Given the description of an element on the screen output the (x, y) to click on. 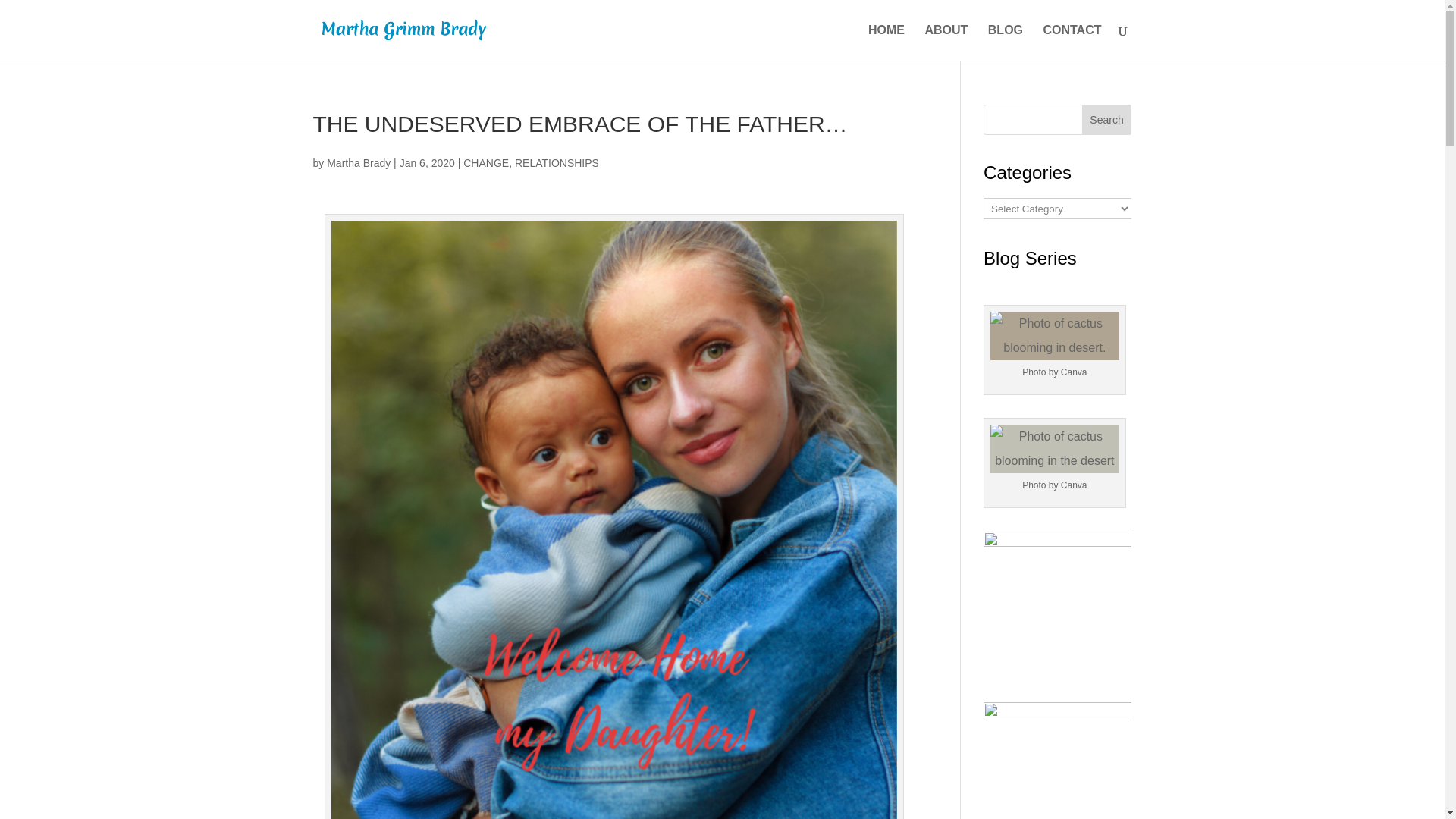
HOME (885, 42)
RELATIONSHIPS (556, 162)
CHANGE (485, 162)
CONTACT (1071, 42)
BLOG (1005, 42)
Search (1106, 119)
Search (1106, 119)
Posts by Martha Brady (358, 162)
Martha Brady (358, 162)
ABOUT (946, 42)
